Given the description of an element on the screen output the (x, y) to click on. 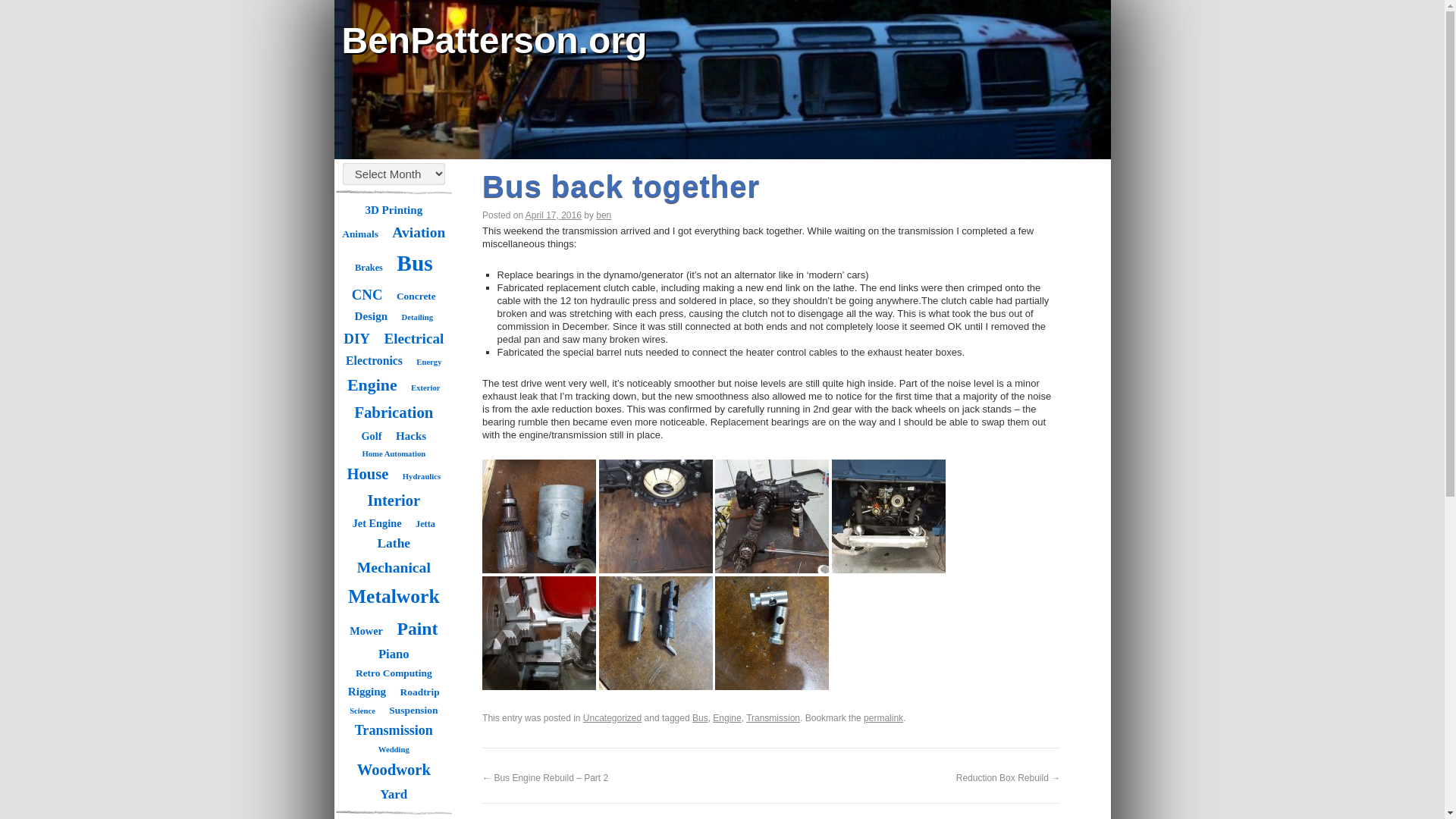
12:00 pm (552, 214)
CNC (367, 294)
Golf (370, 436)
Rigging (366, 692)
Paint (417, 628)
Electronics (374, 360)
Engine (372, 385)
Roadtrip (420, 692)
Yard (392, 794)
Transmission (393, 730)
